Given the description of an element on the screen output the (x, y) to click on. 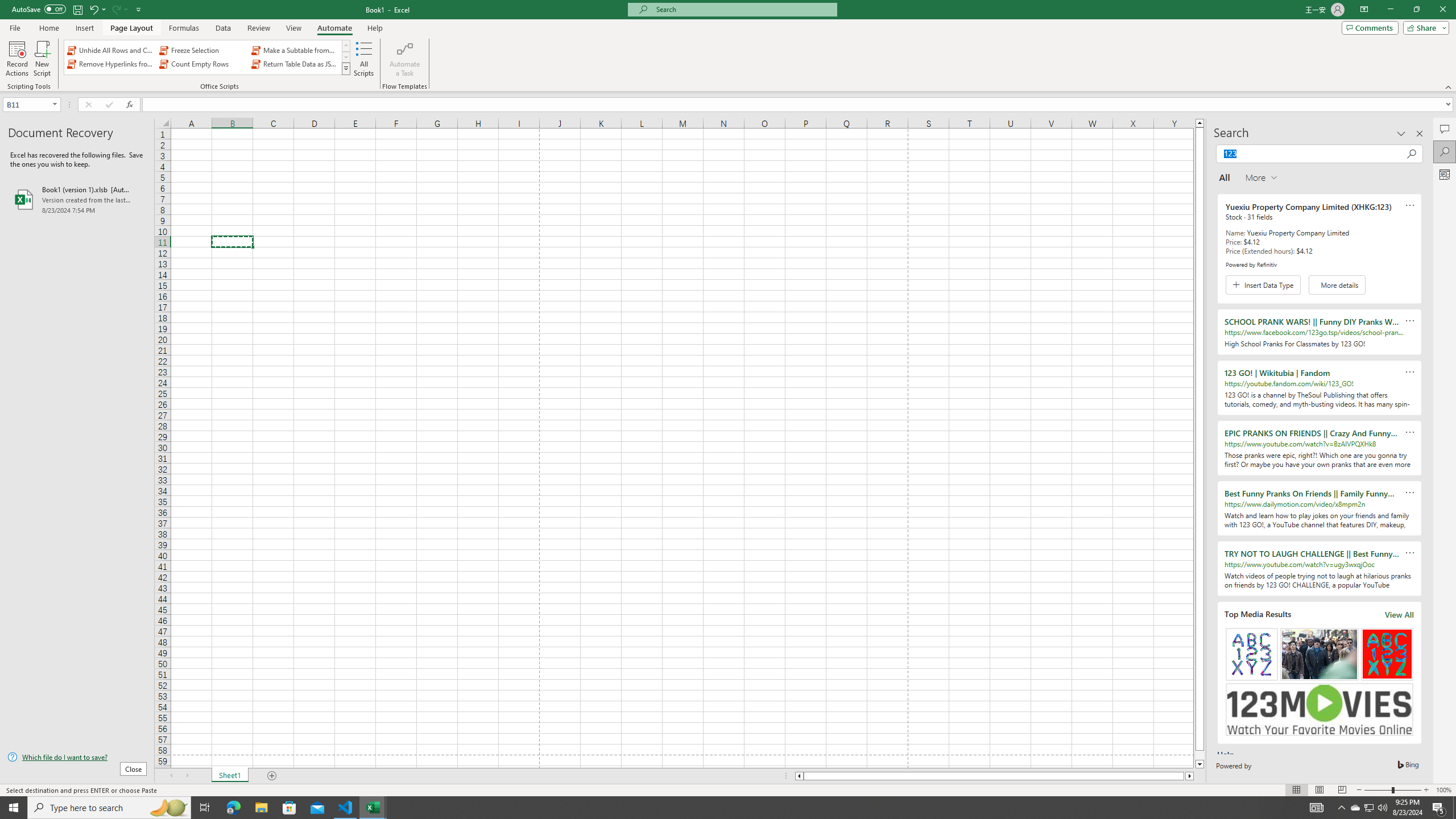
Freeze Selection (202, 50)
Office Scripts (346, 68)
New Script (41, 58)
Unhide All Rows and Columns (111, 50)
